Given the description of an element on the screen output the (x, y) to click on. 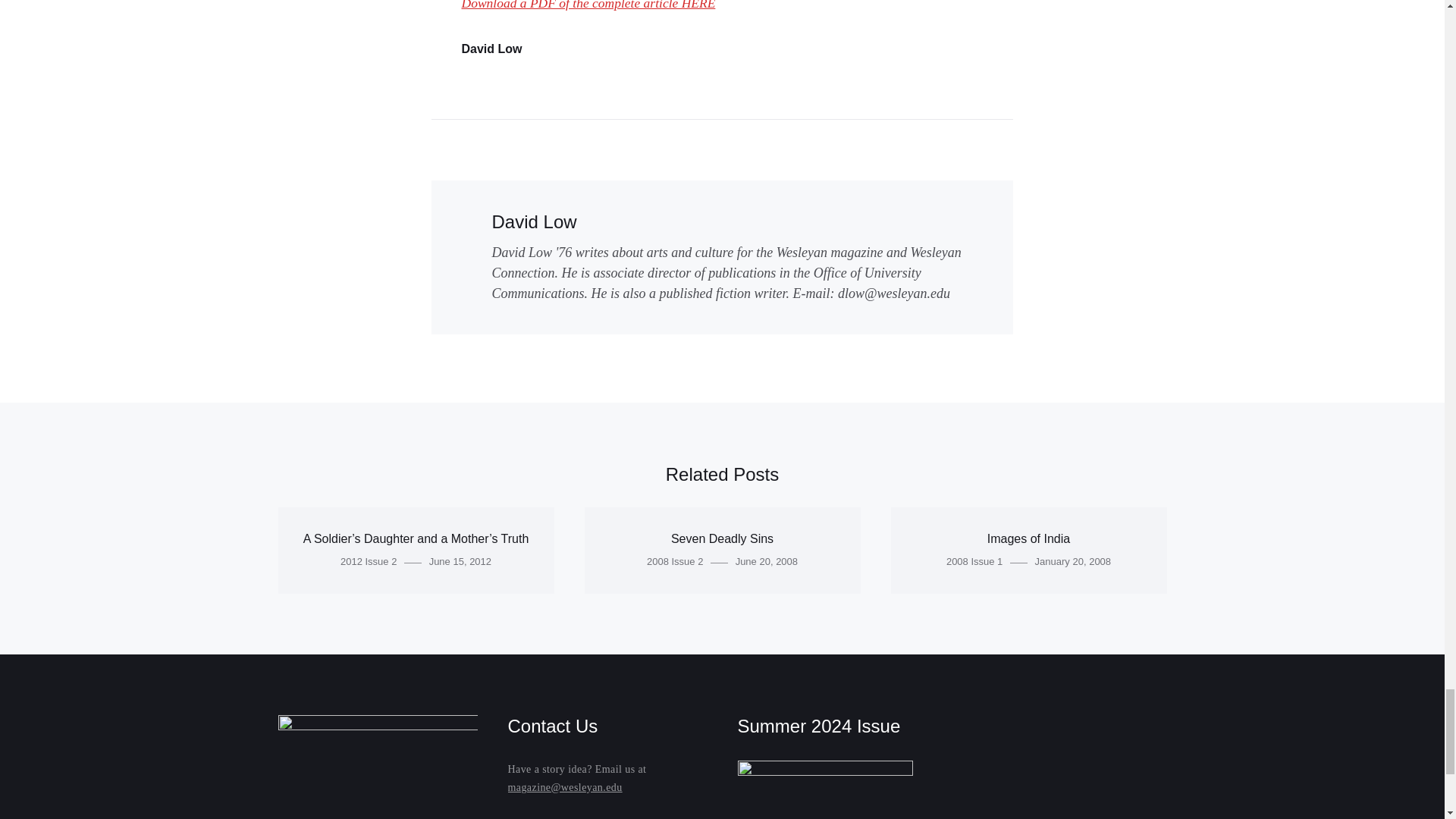
Download a PDF of the complete article HERE (587, 5)
2008 Issue 2 (674, 561)
Images of India (1028, 538)
Seven Deadly Sins (722, 538)
2012 Issue 2 (368, 561)
David Low (534, 221)
David Low (491, 48)
2008 Issue 1 (974, 561)
View all posts by David Low (534, 221)
